Given the description of an element on the screen output the (x, y) to click on. 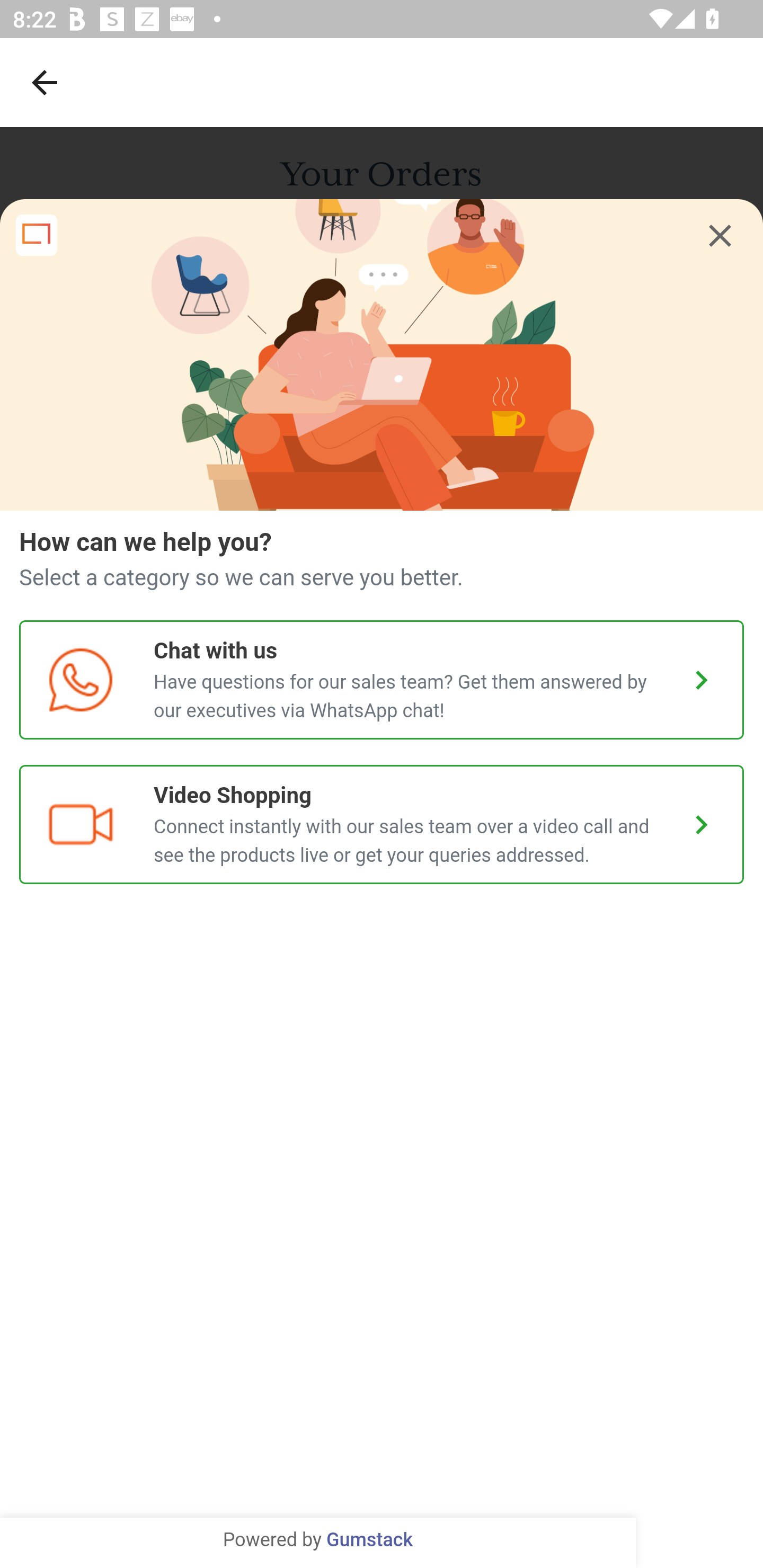
Navigate up (44, 82)
clear (720, 235)
Gumstack (369, 1540)
